Given the description of an element on the screen output the (x, y) to click on. 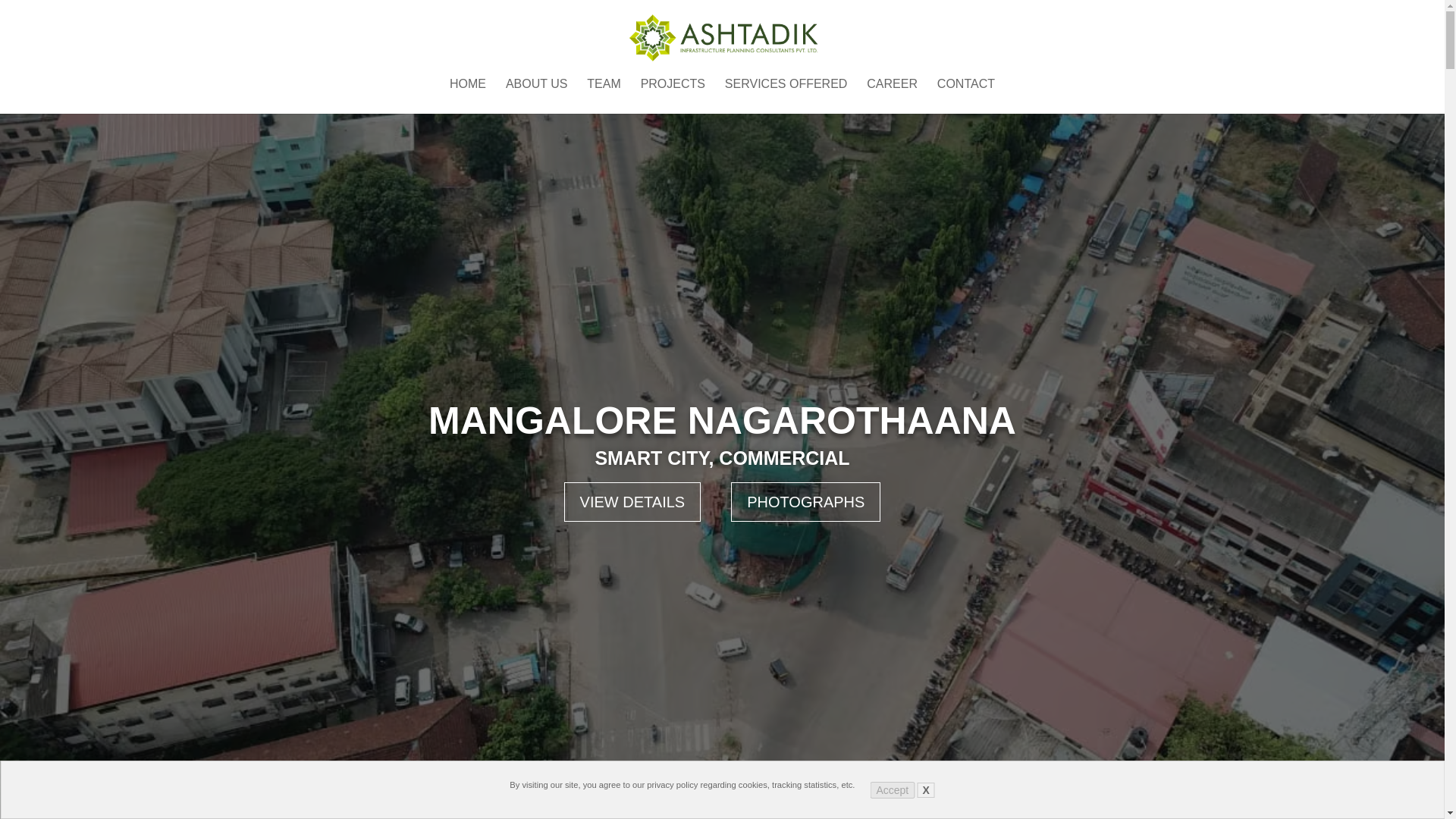
X (925, 789)
HOME (467, 95)
TEAM (603, 95)
CONTACT (965, 95)
VIEW DETAILS (632, 501)
PHOTOGRAPHS (805, 501)
PROJECTS (672, 95)
SERVICES OFFERED (786, 95)
CAREER (891, 95)
ABOUT US (536, 95)
Accept (891, 790)
